Given the description of an element on the screen output the (x, y) to click on. 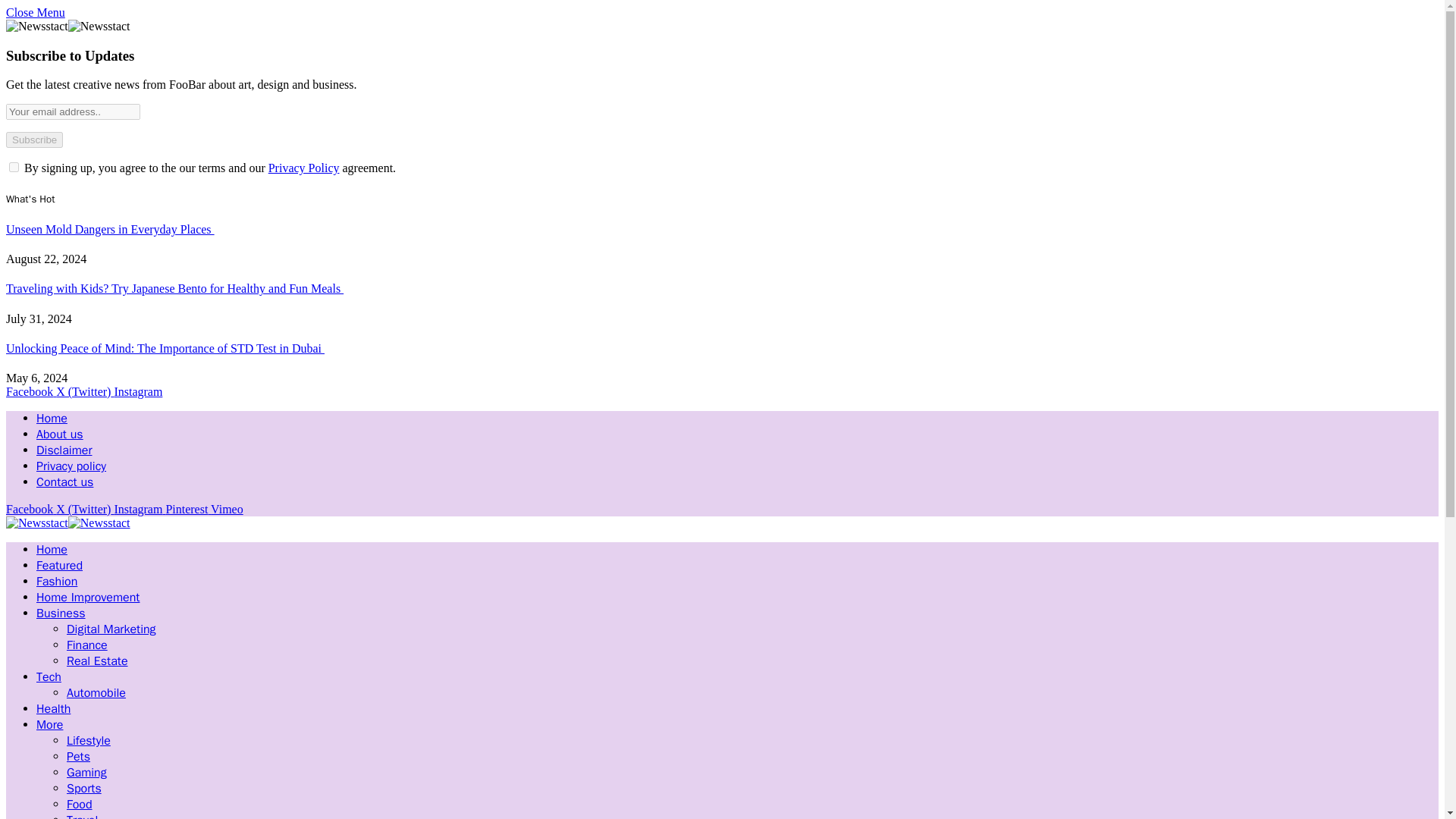
About us (59, 434)
Facebook (30, 508)
Real Estate (97, 661)
Newsstact (68, 524)
Unseen Mold Dangers in Everyday Places  (109, 228)
Instagram (137, 391)
Subscribe (33, 139)
Privacy Policy (303, 167)
Close Menu (35, 11)
